Given the description of an element on the screen output the (x, y) to click on. 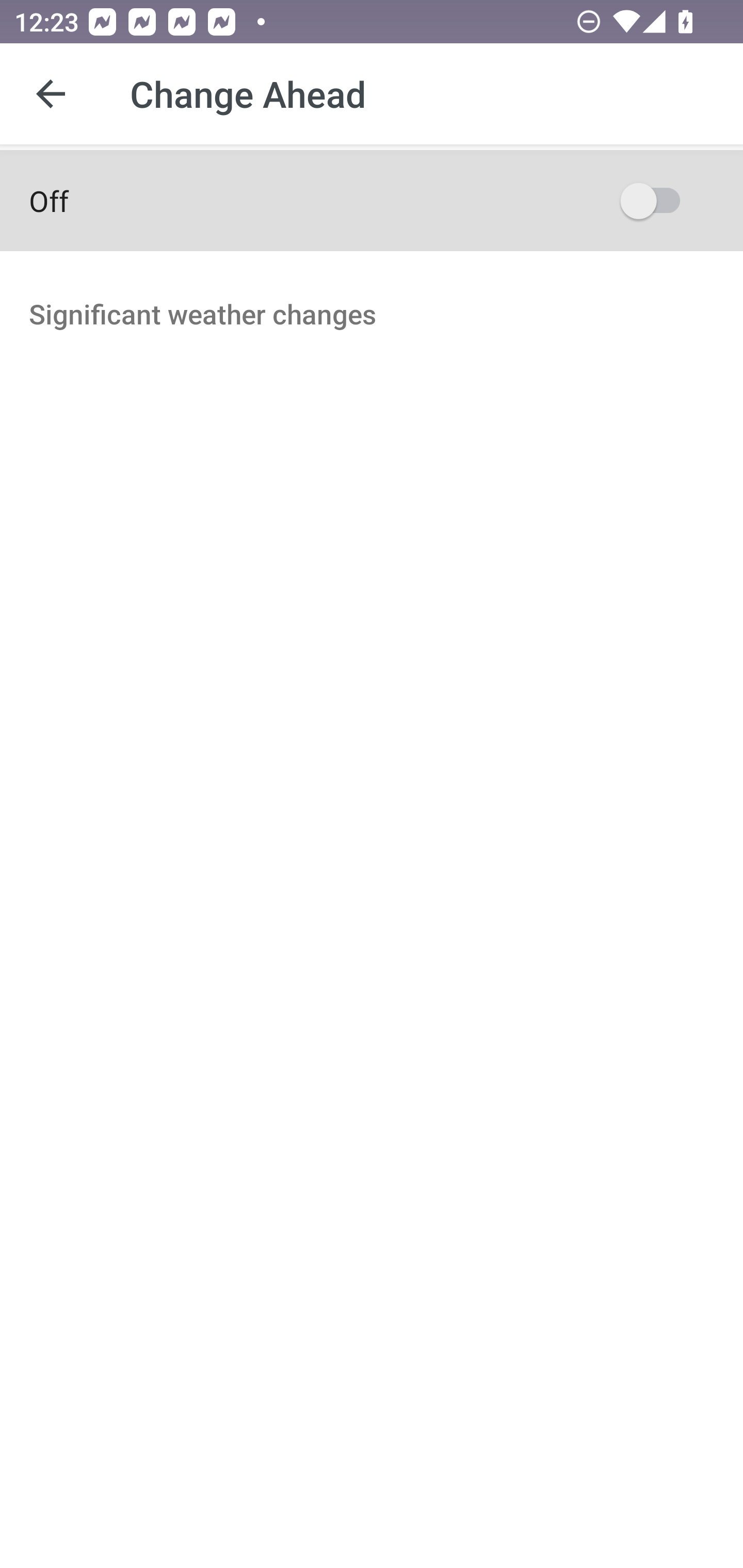
Navigate up (50, 93)
Off Significant weather changes (371, 307)
Off (371, 200)
